Given the description of an element on the screen output the (x, y) to click on. 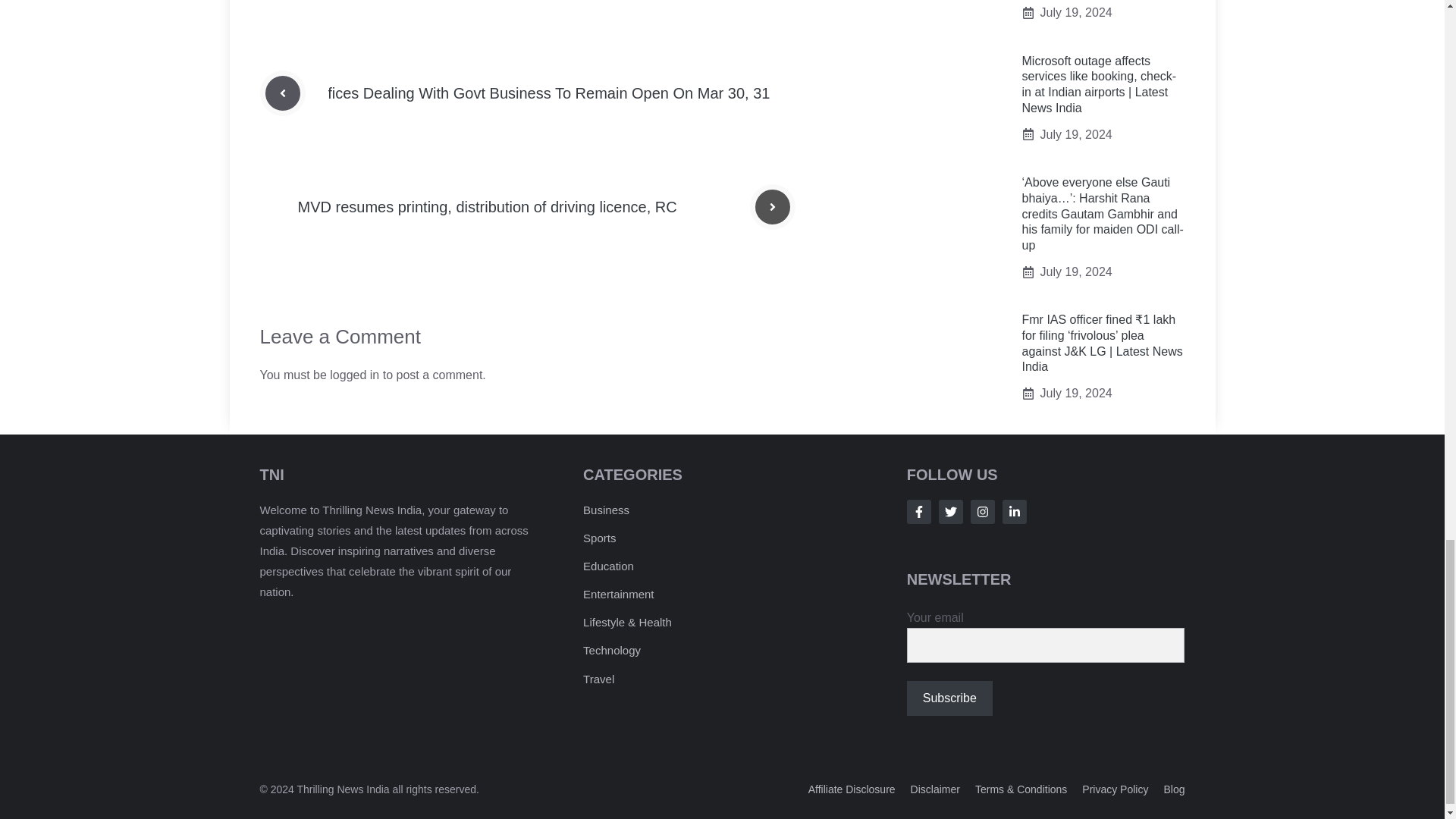
Sports (599, 537)
Travel (598, 678)
MVD resumes printing, distribution of driving licence, RC (487, 207)
logged in (354, 374)
Technology (611, 649)
Entertainment (618, 594)
Business (605, 509)
Subscribe (949, 697)
Education (608, 565)
